Given the description of an element on the screen output the (x, y) to click on. 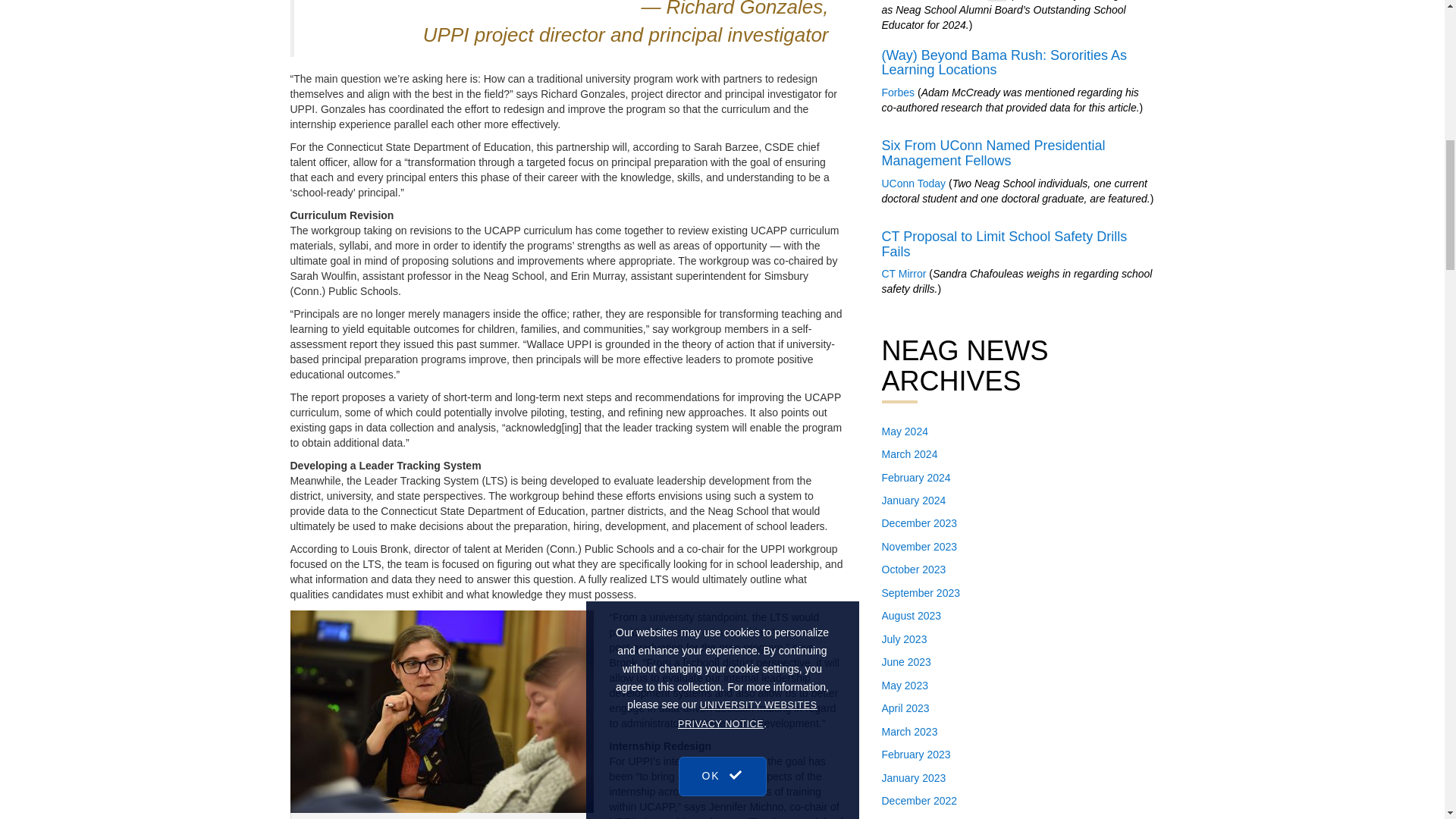
OK (721, 133)
UNIVERSITY WEBSITES PRIVACY NOTICE (747, 88)
